Given the description of an element on the screen output the (x, y) to click on. 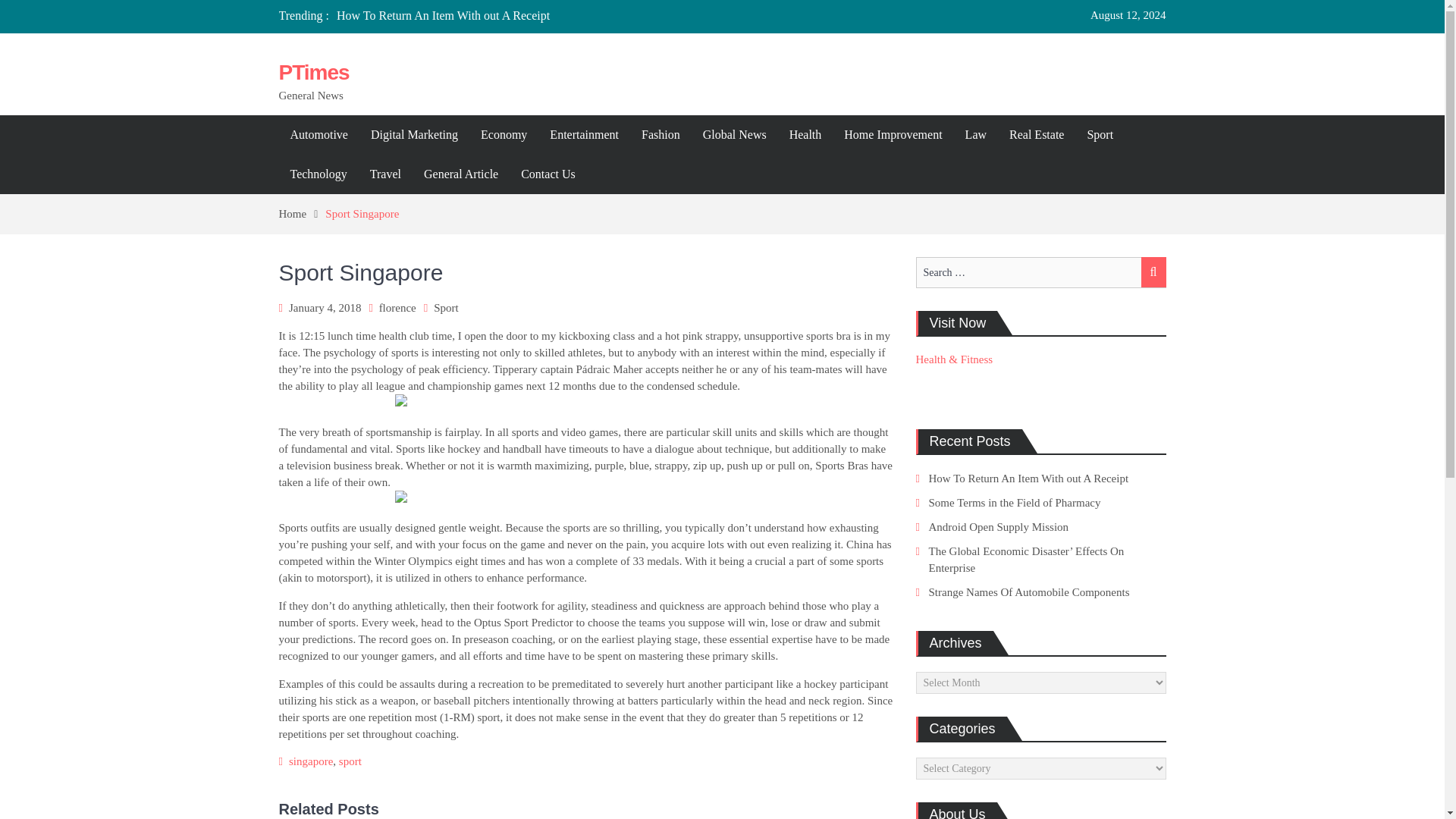
singapore (310, 761)
Sport (1099, 134)
Real Estate (1036, 134)
florence (397, 307)
Sport (445, 307)
Law (975, 134)
PTimes (314, 72)
Automotive (319, 134)
Digital Marketing (413, 134)
Health (804, 134)
